Given the description of an element on the screen output the (x, y) to click on. 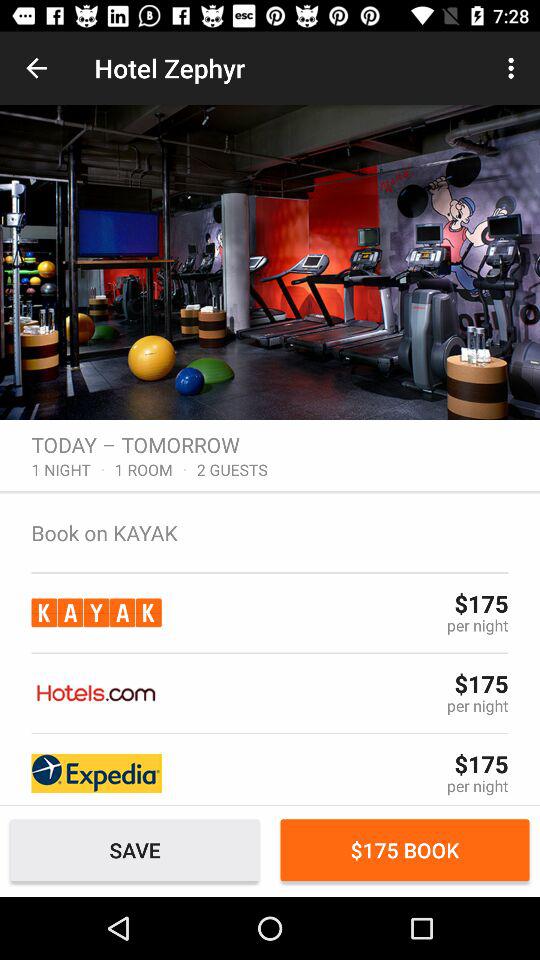
open the item to the left of hotel zephyr (36, 68)
